Given the description of an element on the screen output the (x, y) to click on. 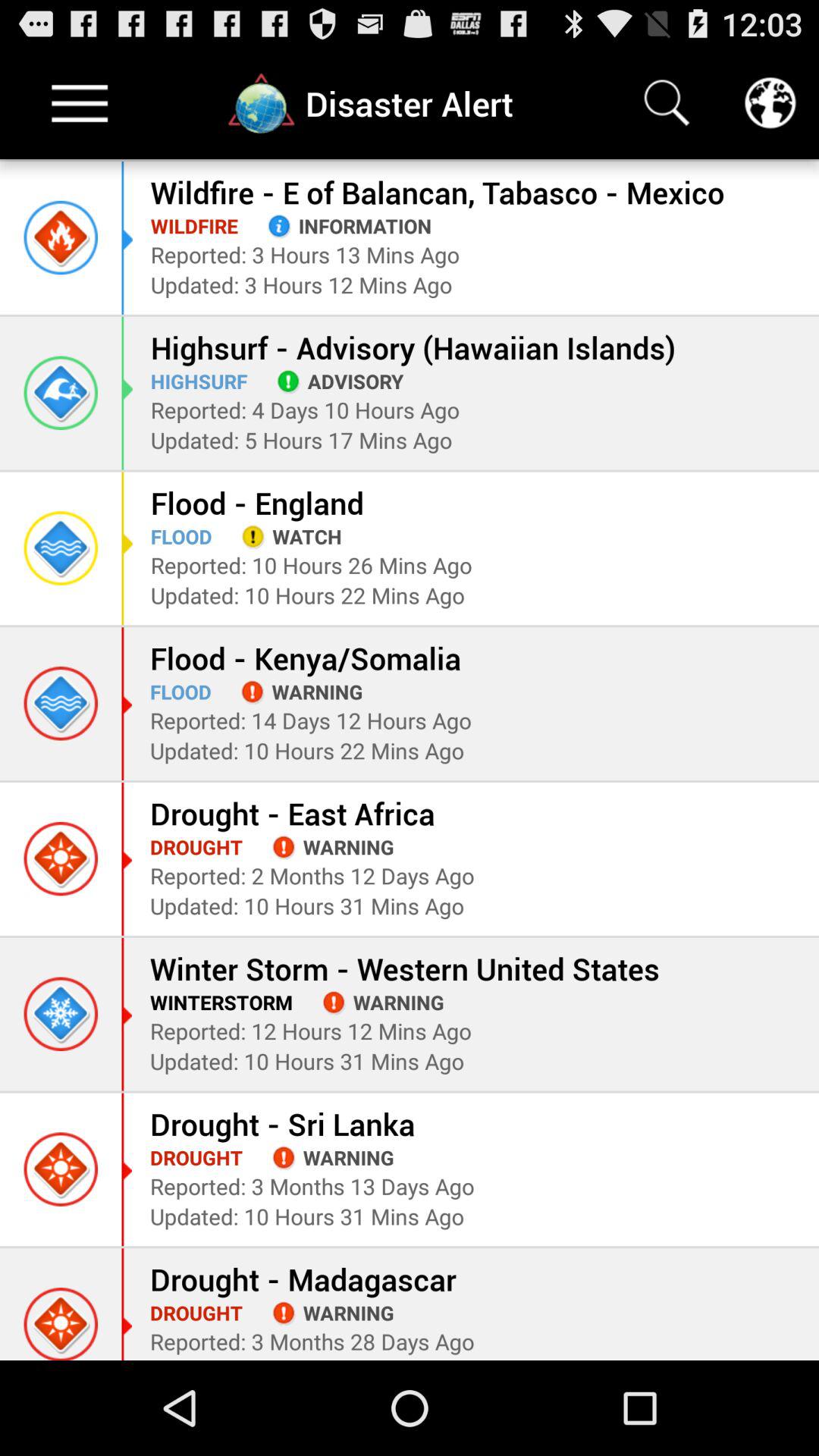
click icon to the right of disaster alert item (666, 102)
